Given the description of an element on the screen output the (x, y) to click on. 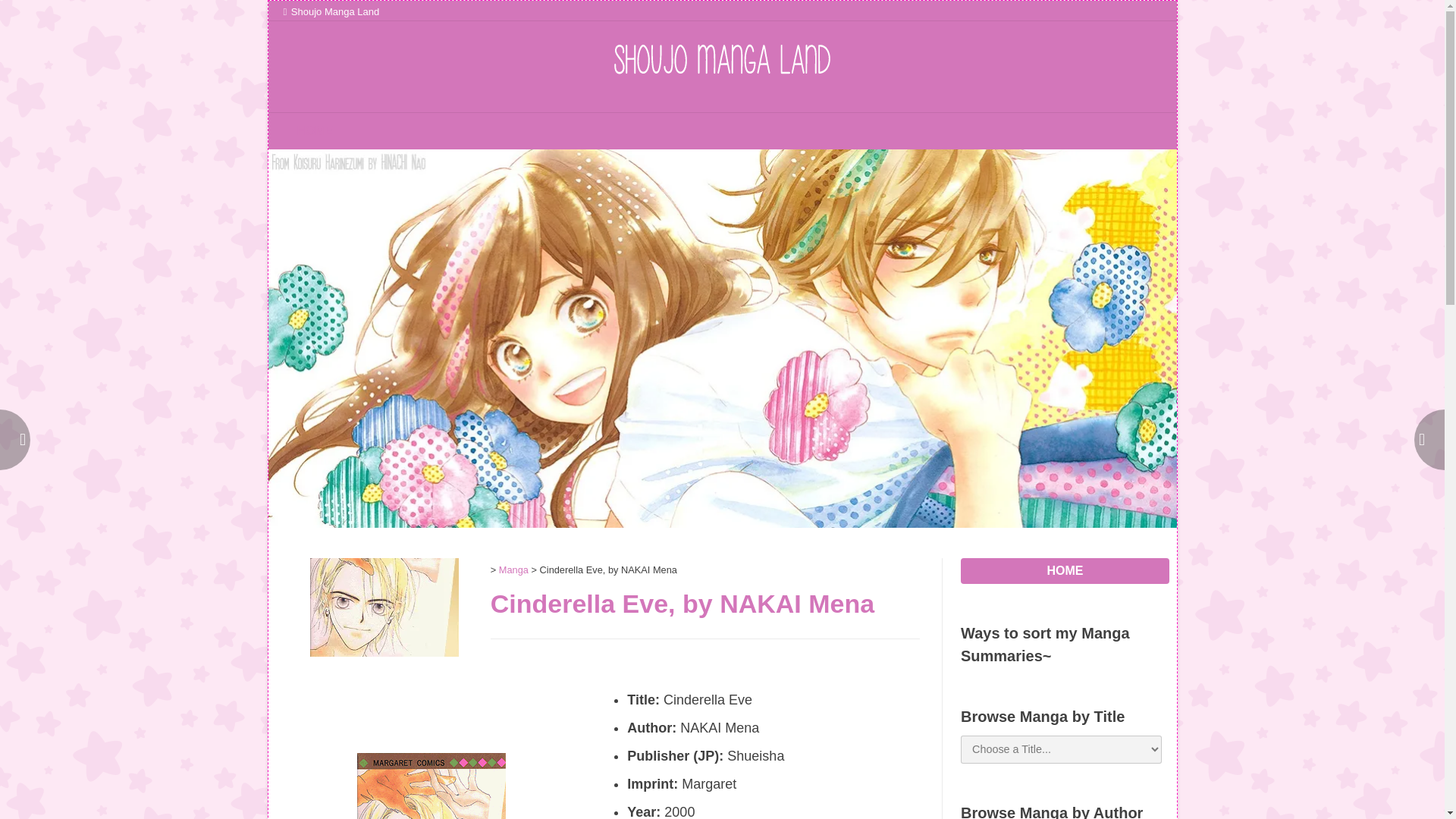
HOME (1064, 570)
HOME (315, 130)
Manga (513, 569)
Go to Manga. (513, 569)
Search (27, 13)
